Given the description of an element on the screen output the (x, y) to click on. 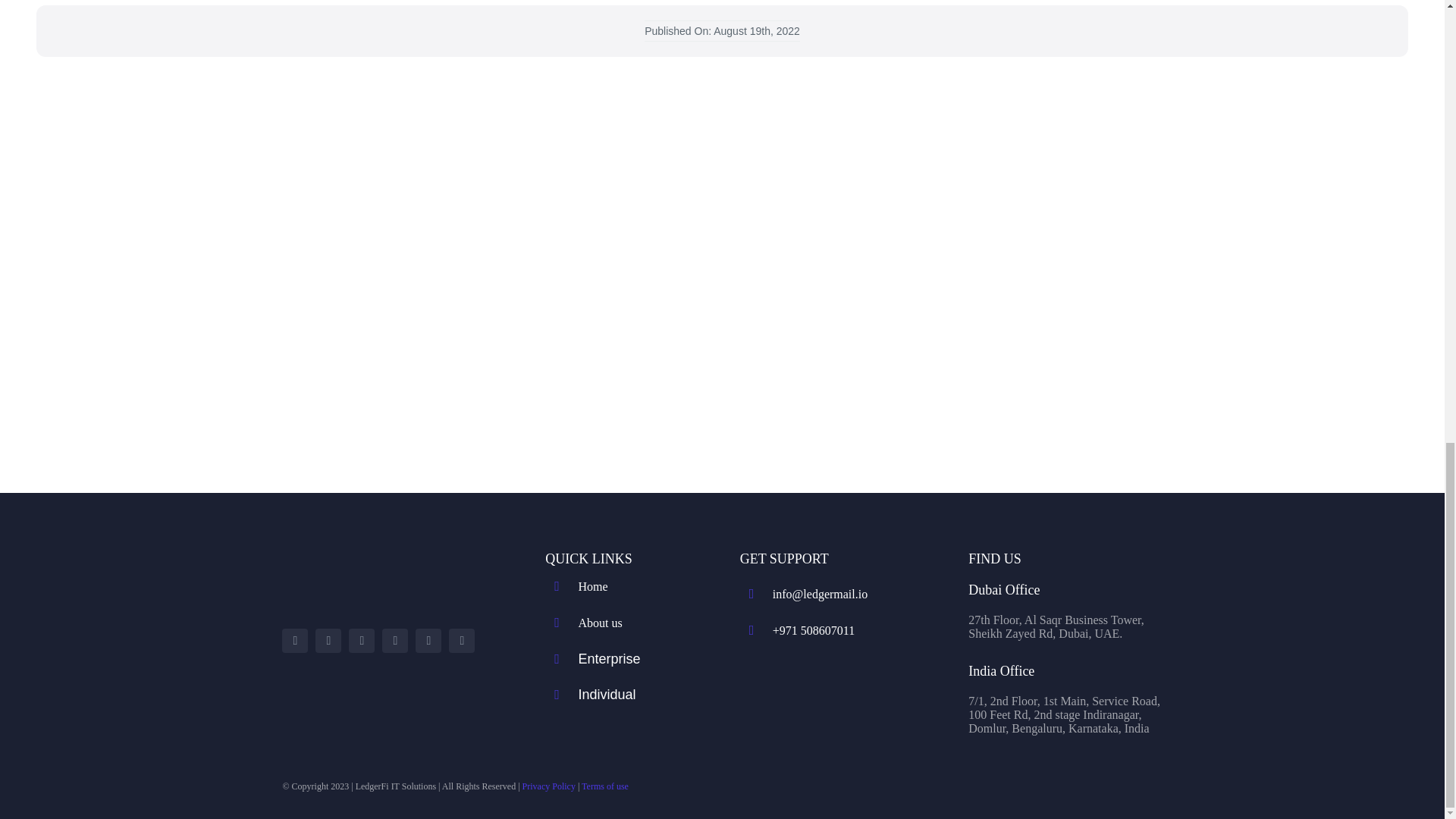
LinkedIn (427, 640)
Instagram (394, 640)
Telegram (461, 640)
Facebook (294, 640)
YouTube (361, 640)
Twitter (327, 640)
